Given the description of an element on the screen output the (x, y) to click on. 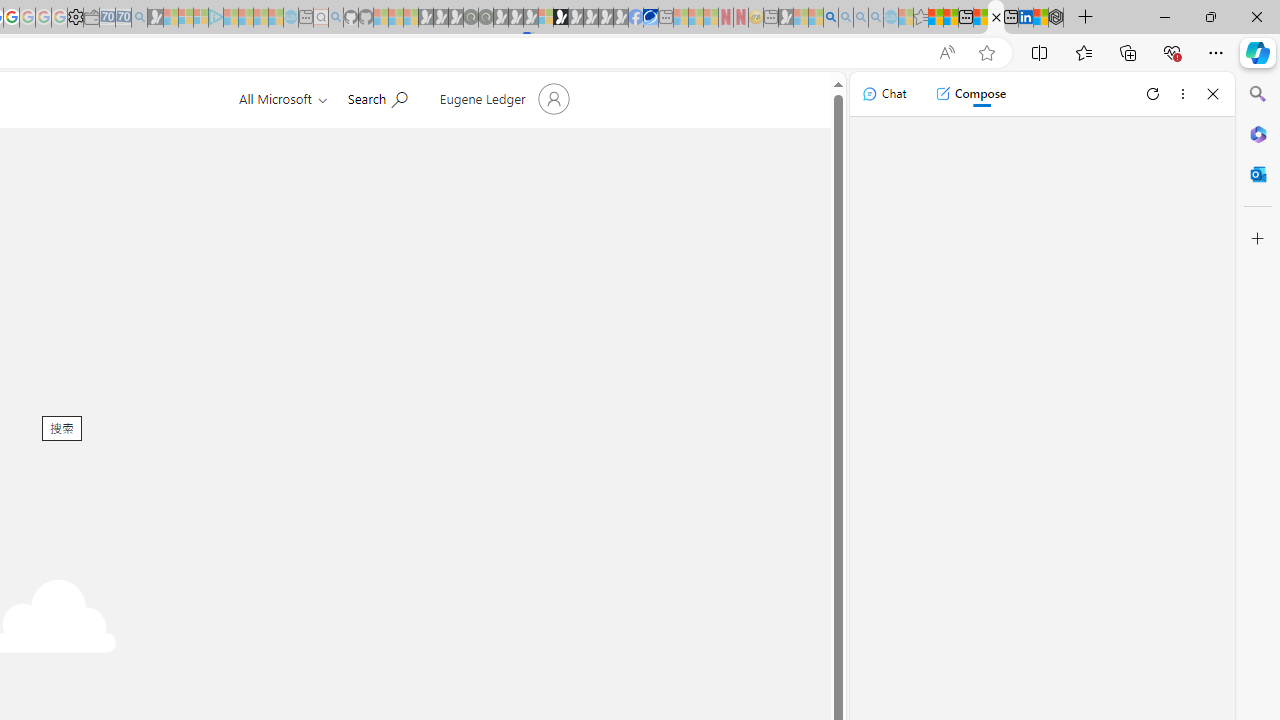
LinkedIn (1025, 17)
Account manager for Eugene Ledger (502, 98)
Wallet - Sleeping (91, 17)
